Given the description of an element on the screen output the (x, y) to click on. 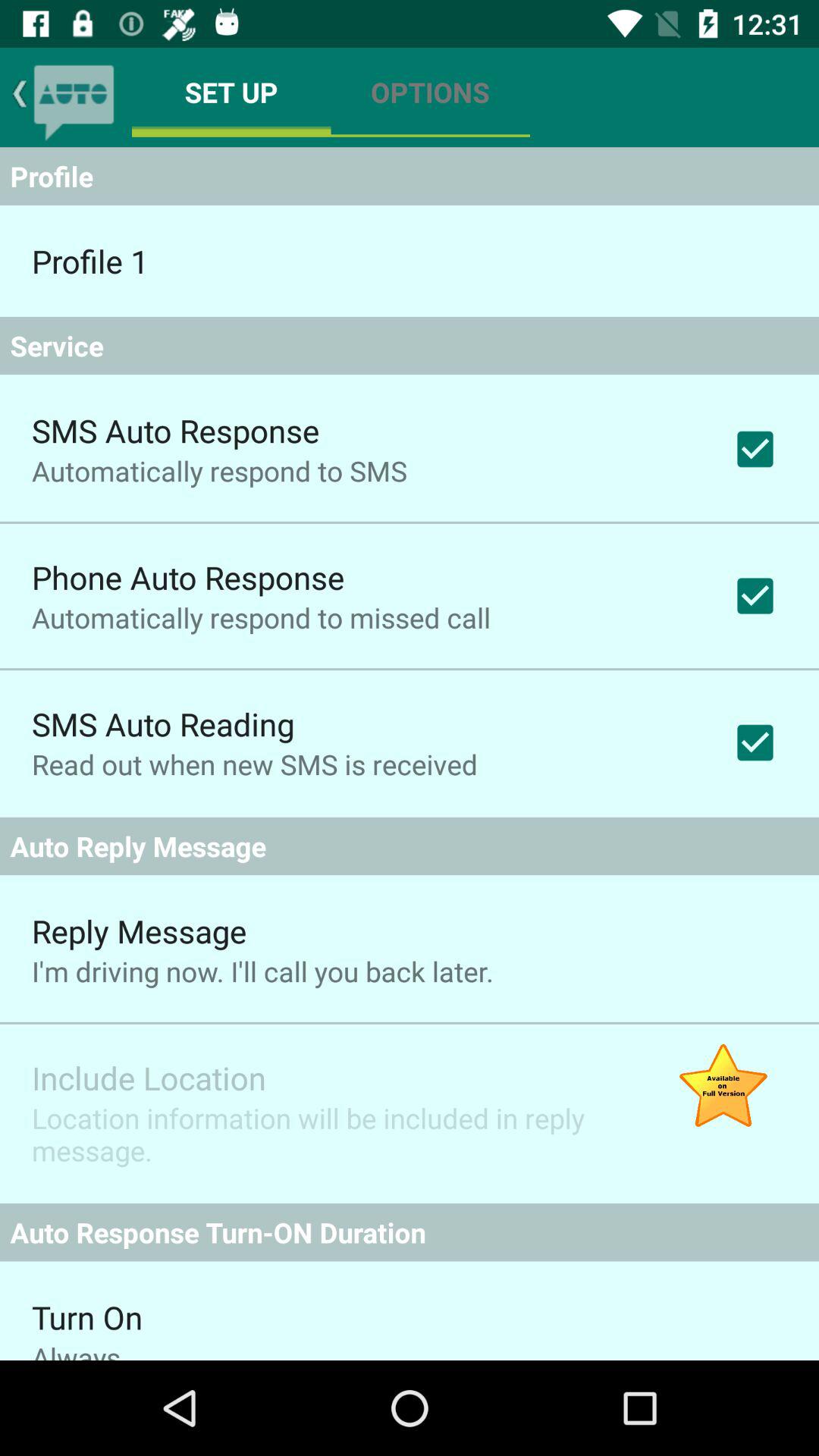
clicando nesta funo ir voltar para rea de mensagens (73, 97)
